Given the description of an element on the screen output the (x, y) to click on. 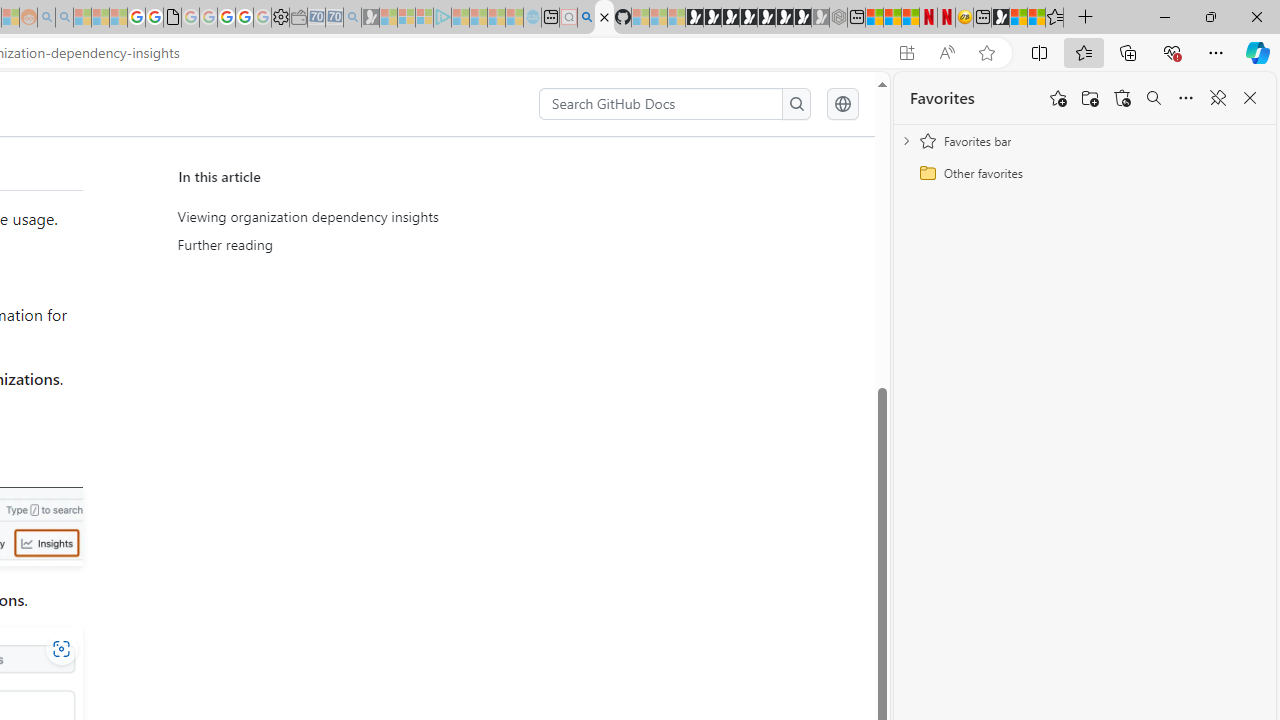
Search favorites (1153, 98)
Search GitHub Docs (661, 103)
Select language: current language is English (842, 103)
Restore deleted favorites (1122, 98)
Viewing organization dependency insights (365, 217)
